Given the description of an element on the screen output the (x, y) to click on. 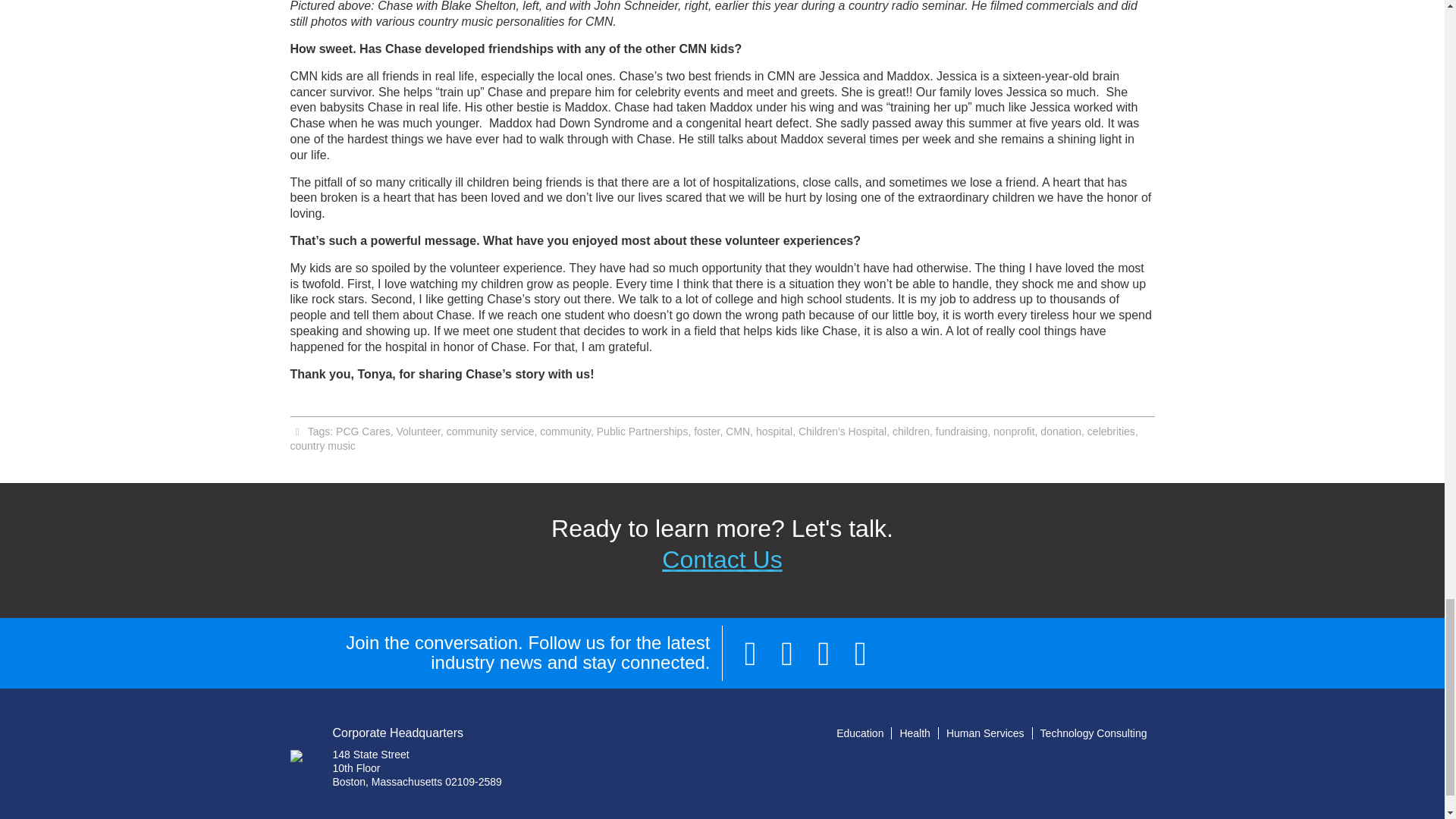
CMN (737, 431)
Twitter (823, 652)
Facebook (750, 652)
hospital (773, 431)
Public Partnerships (642, 431)
YouTube (860, 652)
Volunteer (417, 431)
PCG Cares (363, 431)
community (565, 431)
foster (706, 431)
